Given the description of an element on the screen output the (x, y) to click on. 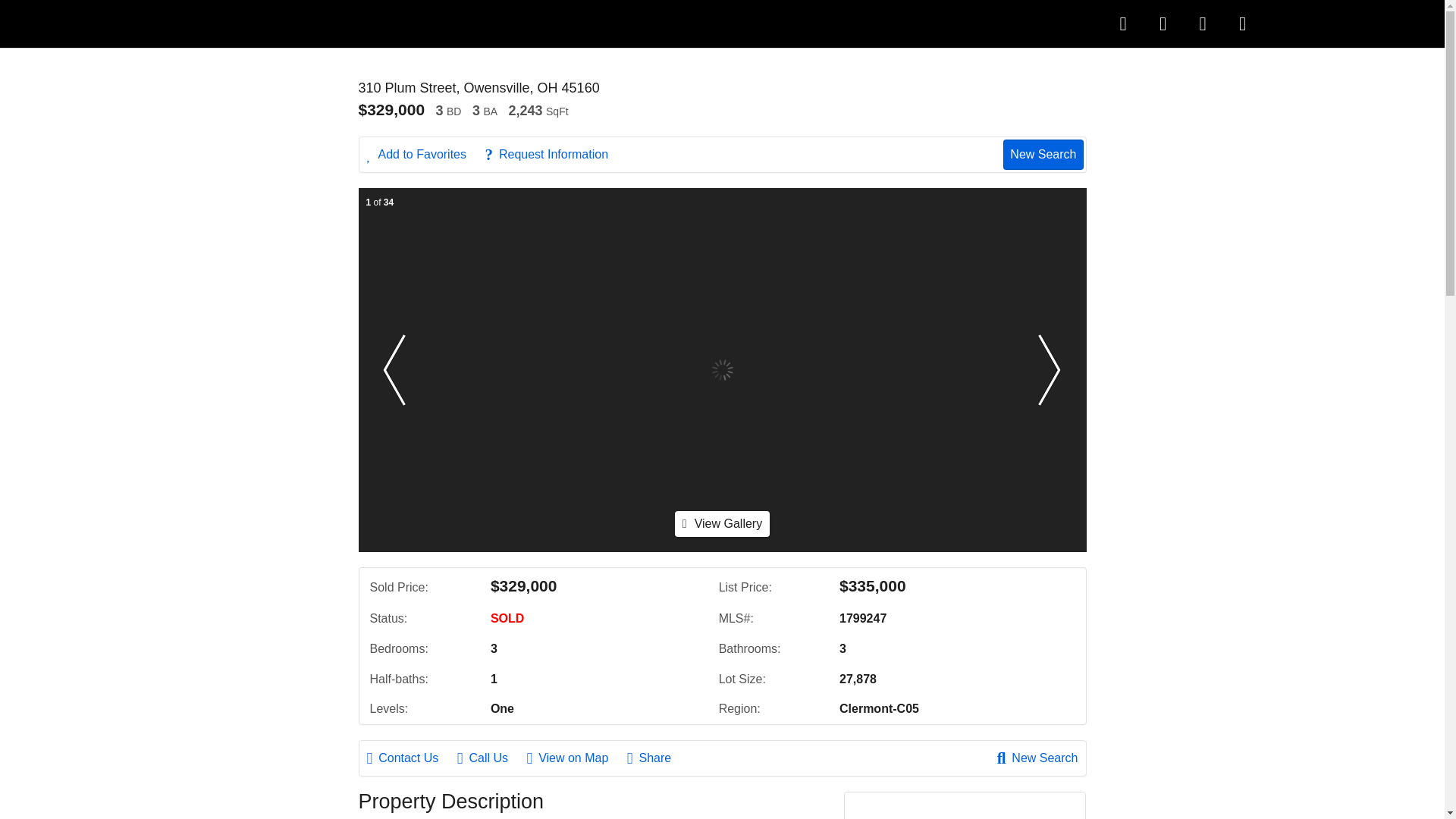
View Gallery (722, 524)
New Search (1037, 757)
View on Map (574, 757)
New Search (1043, 154)
Add to Favorites (423, 154)
Request Information (553, 154)
Contact Us (410, 757)
Call Us (489, 757)
Share (656, 757)
View Gallery (722, 522)
